Given the description of an element on the screen output the (x, y) to click on. 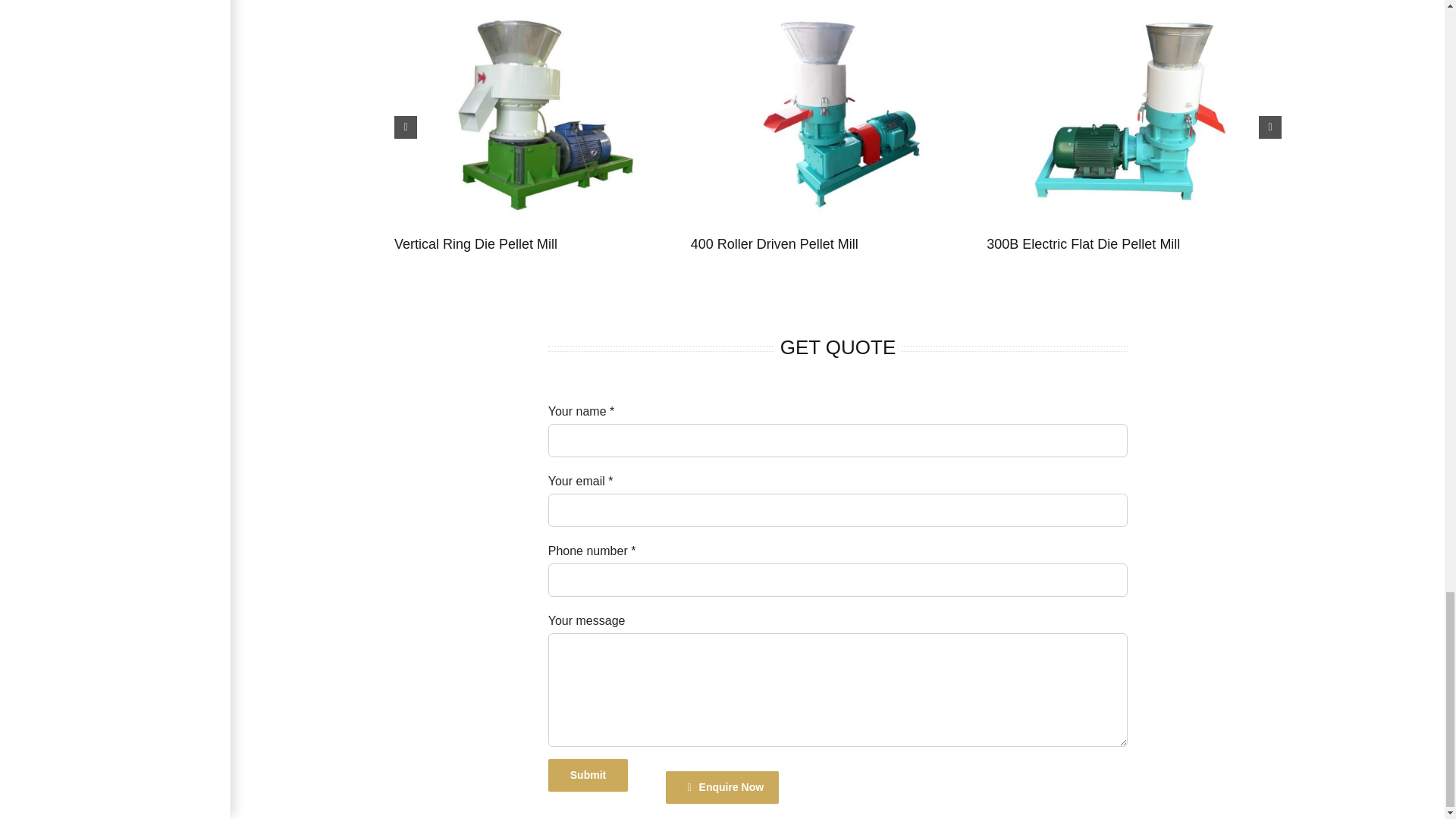
Submit (587, 775)
Vertical Ring Die Pellet Mill (475, 243)
300B Electric Flat Die Pellet Mill (1083, 243)
400 Roller Driven Pellet Mill (774, 243)
